Given the description of an element on the screen output the (x, y) to click on. 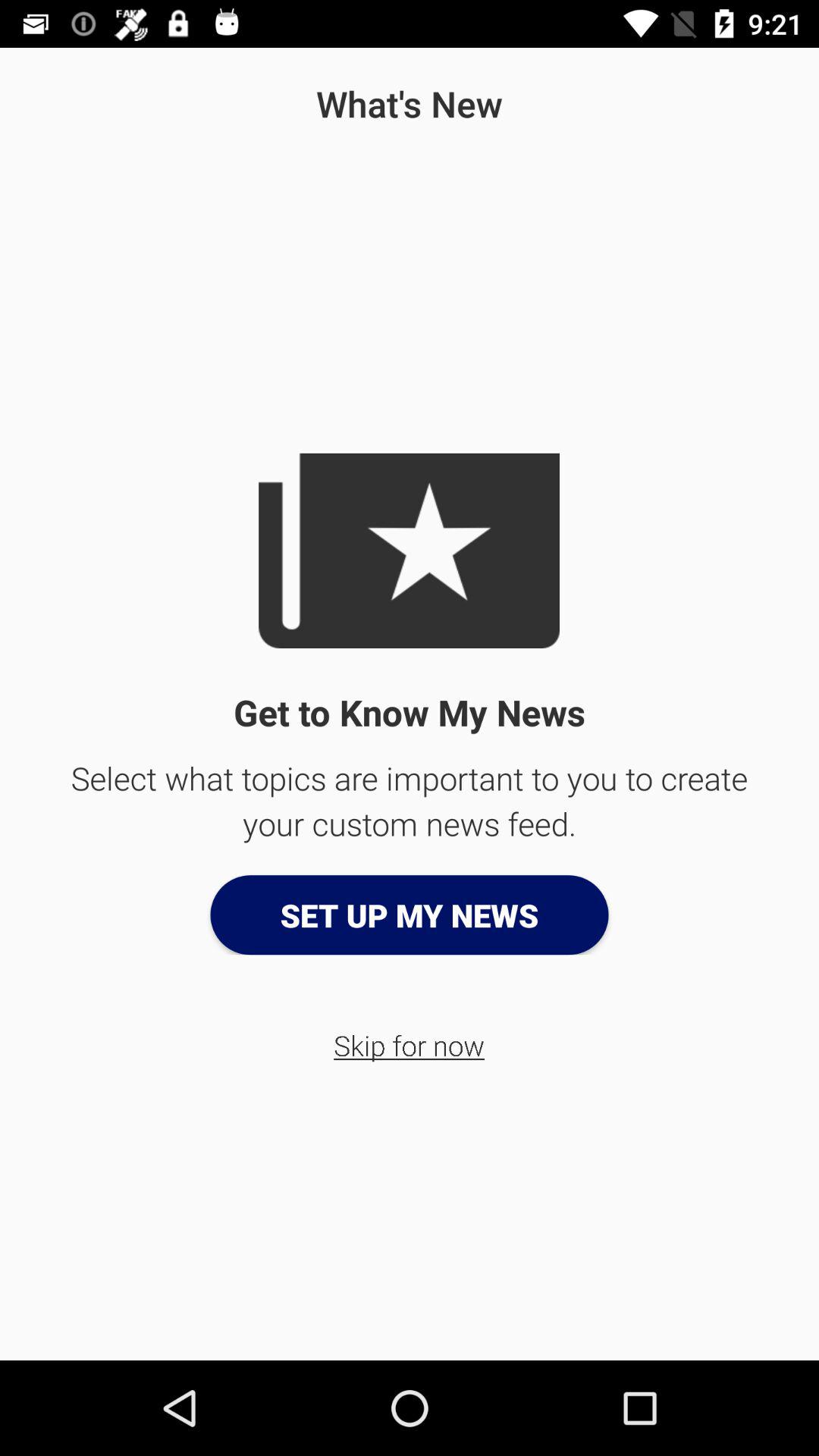
launch the button below set up my button (409, 1044)
